Given the description of an element on the screen output the (x, y) to click on. 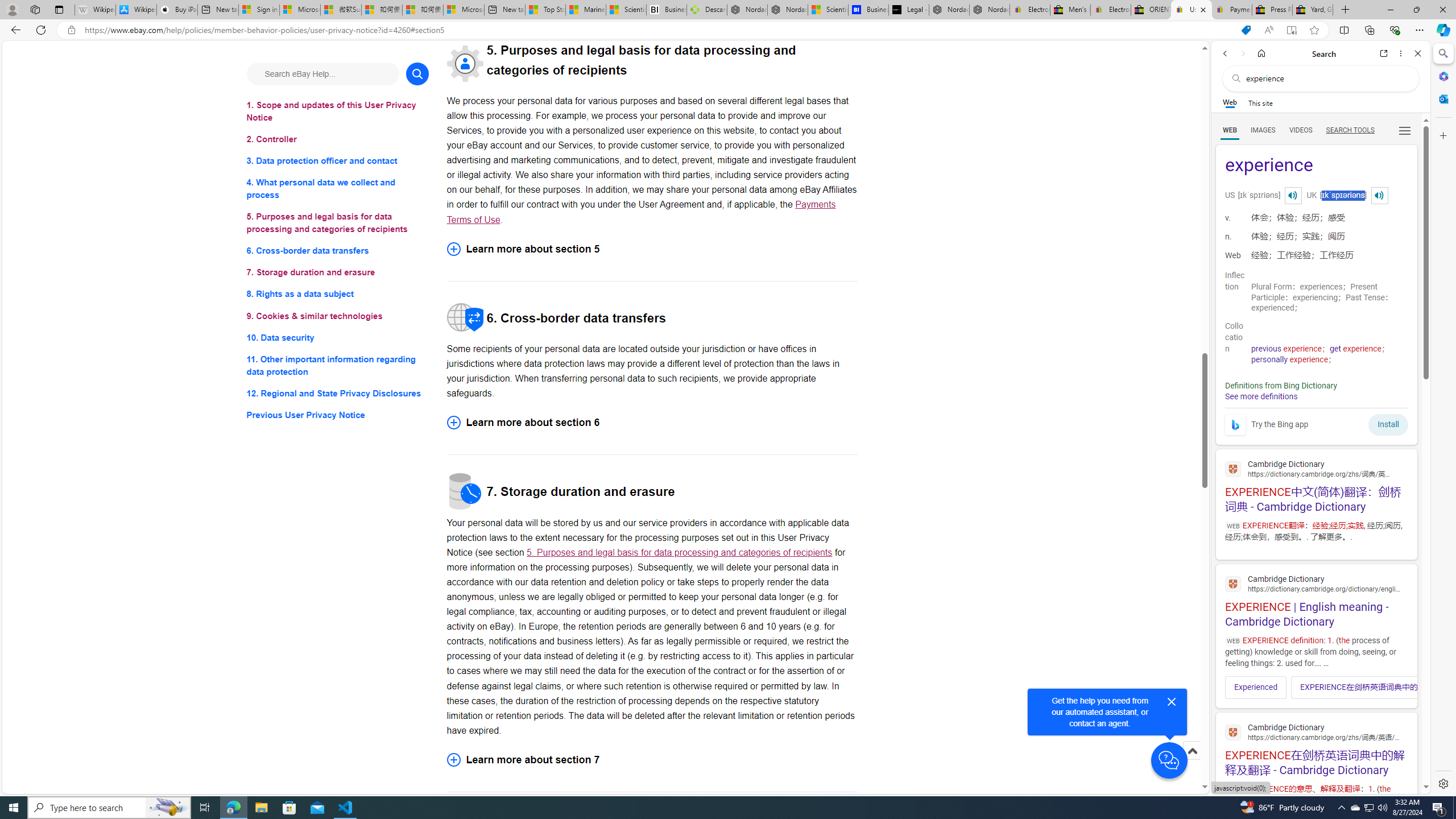
1. Scope and updates of this User Privacy Notice (337, 111)
Learn more about section 5 (651, 248)
Class: dict_pnIcon rms_img (1379, 194)
2. Controller (337, 138)
Experienced (1255, 687)
